Given the description of an element on the screen output the (x, y) to click on. 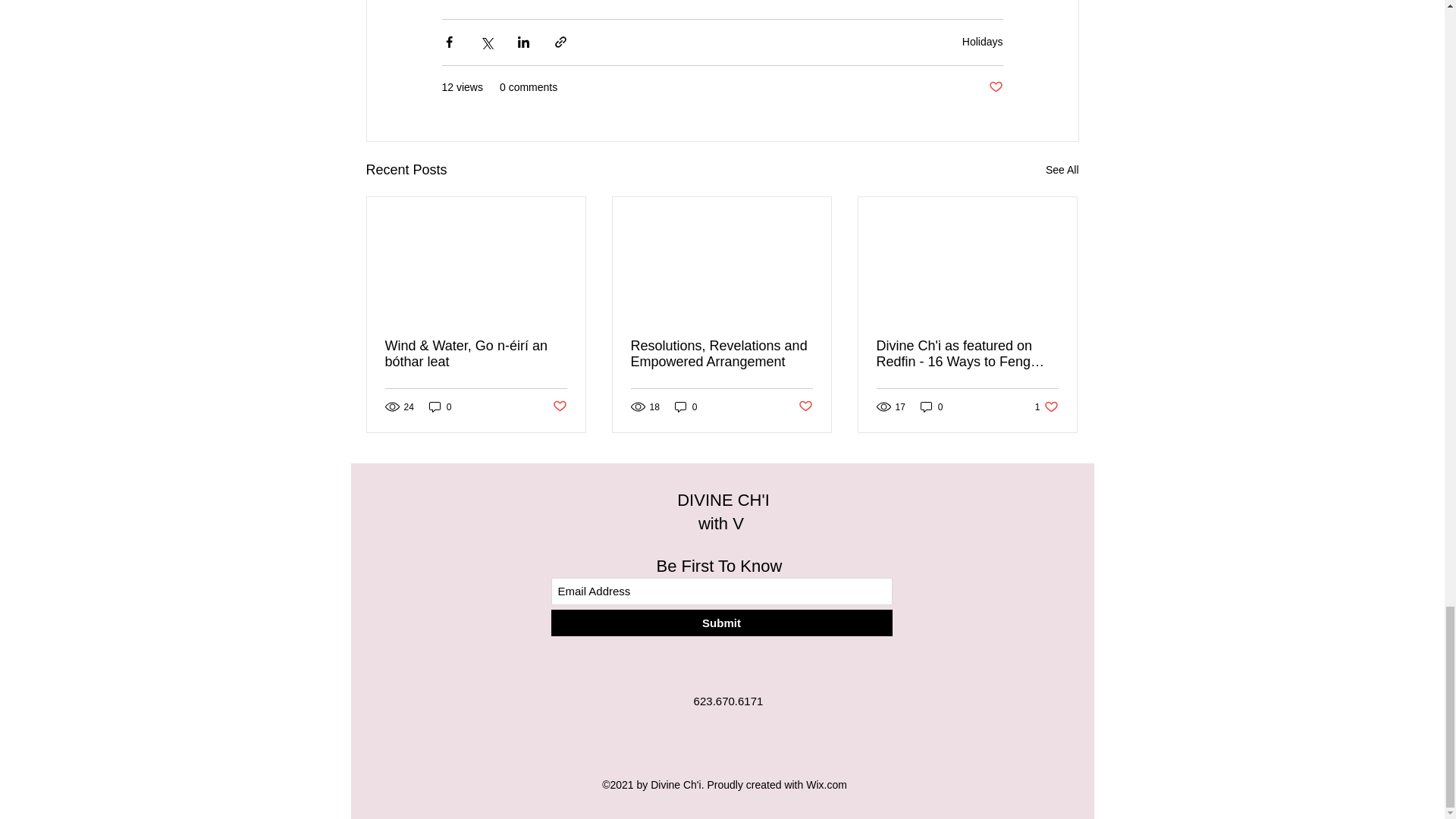
Resolutions, Revelations and Empowered Arrangement (721, 354)
Post not marked as liked (558, 406)
See All (1061, 169)
Post not marked as liked (995, 87)
0 (440, 406)
Holidays (982, 41)
